Given the description of an element on the screen output the (x, y) to click on. 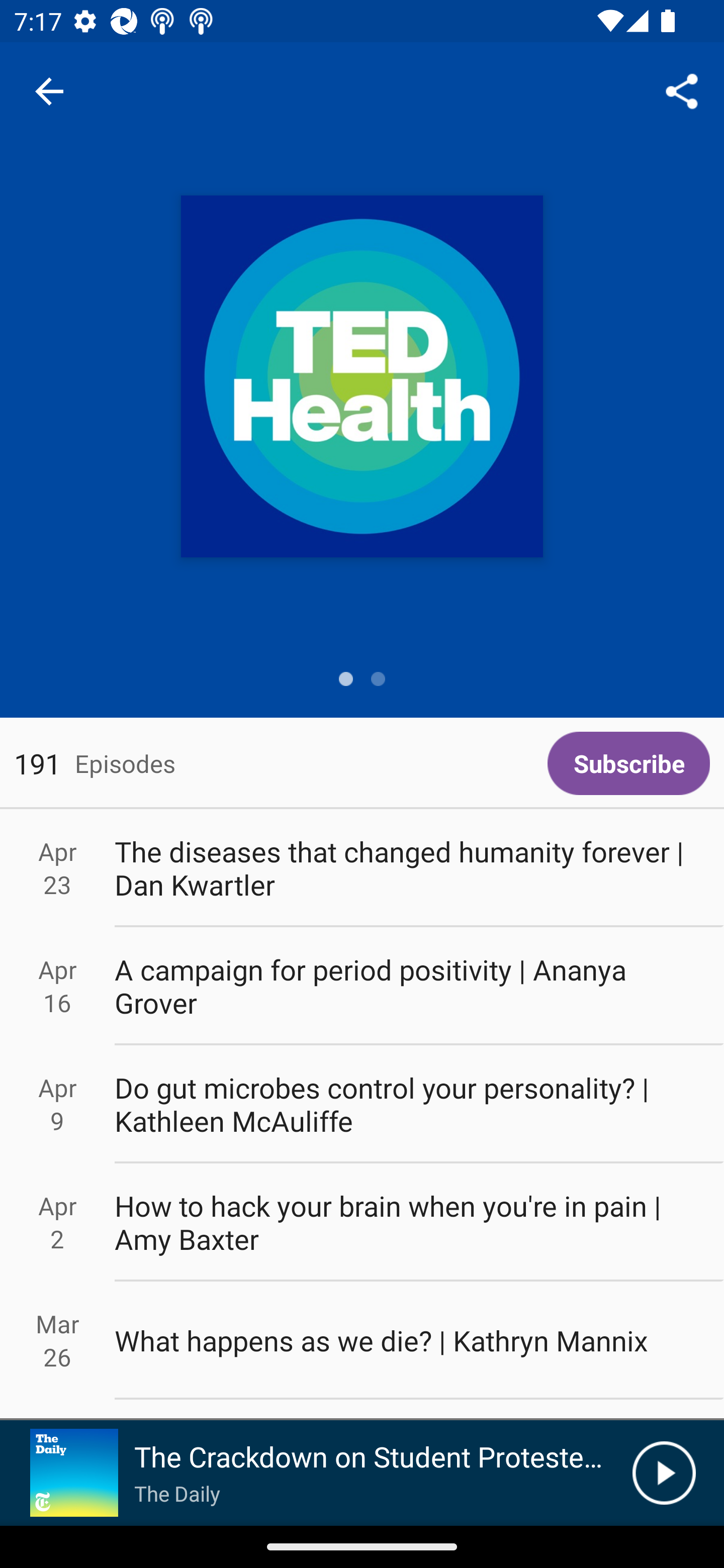
Navigate up (49, 91)
Share... (681, 90)
Subscribe (628, 763)
Mar 26 What happens as we die? | Kathryn Mannix (362, 1340)
Play (663, 1472)
